Given the description of an element on the screen output the (x, y) to click on. 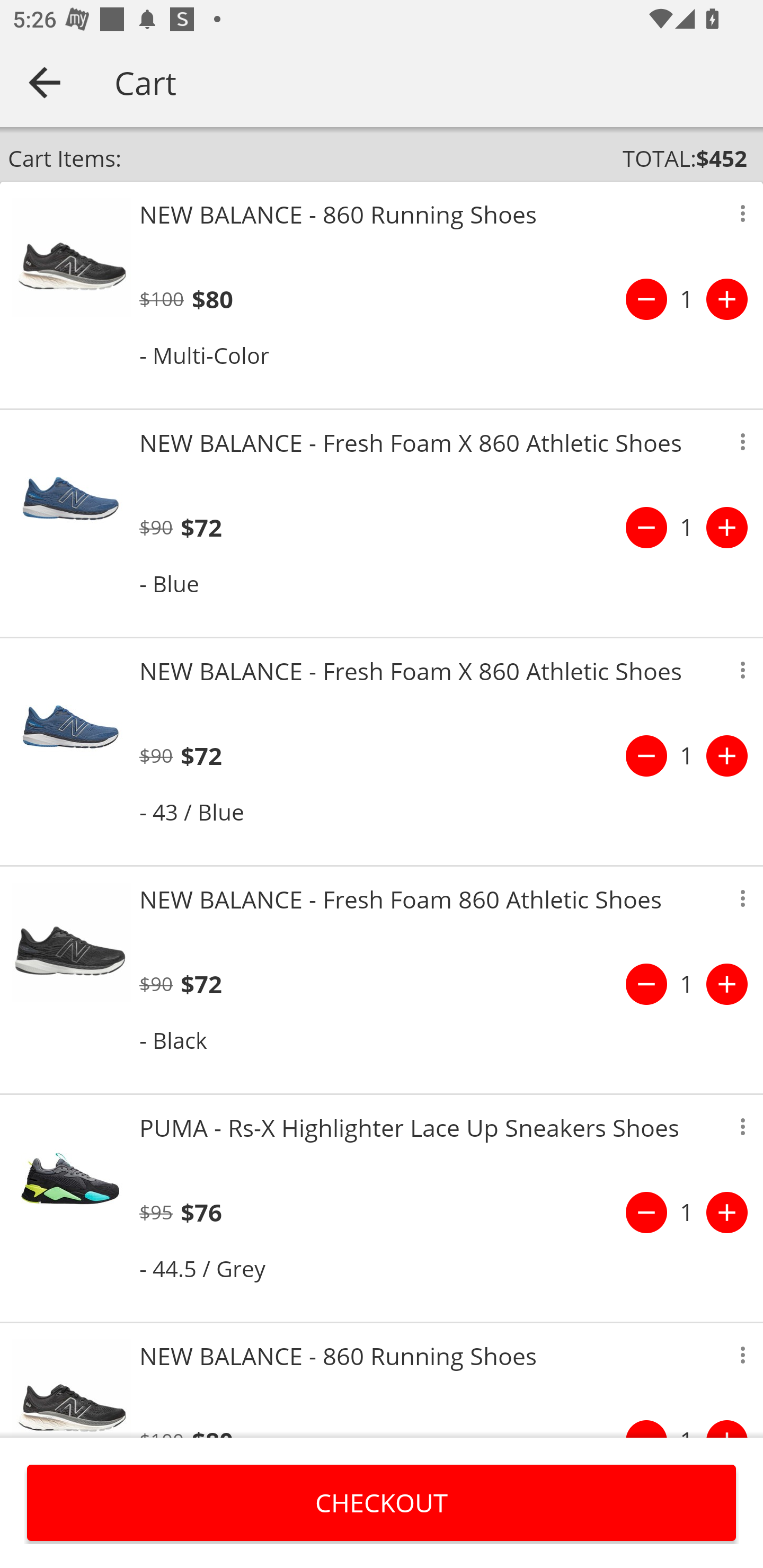
Navigate up (44, 82)
1 (686, 299)
1 (686, 527)
1 (686, 755)
1 (686, 984)
1 (686, 1211)
NEW BALANCE - 860 Running Shoes $100 $80 1 (381, 1380)
CHECKOUT (381, 1502)
